Given the description of an element on the screen output the (x, y) to click on. 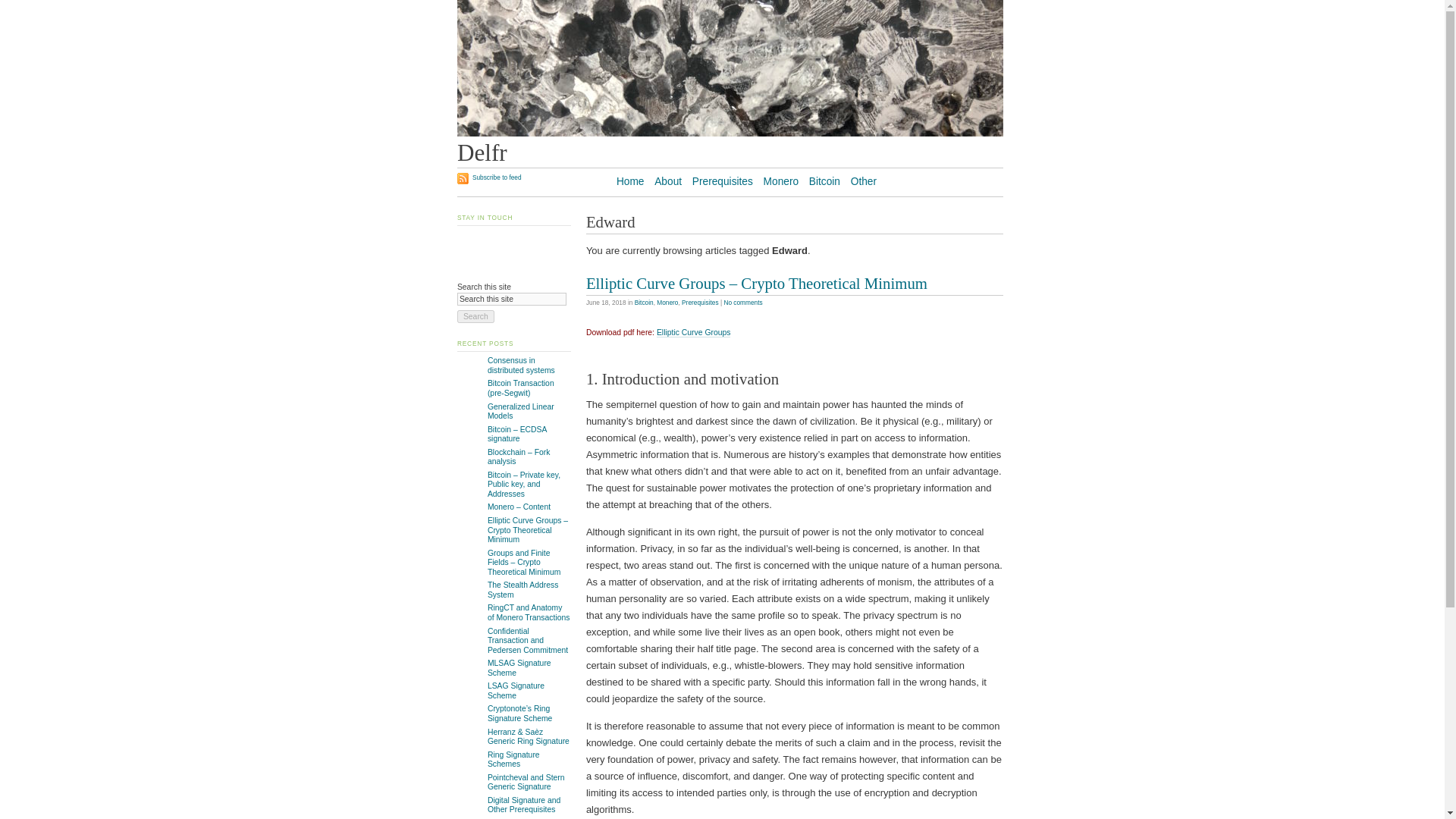
About (667, 181)
Search (476, 316)
Subscribe to feed (489, 178)
Monero (780, 181)
Monero (667, 302)
Bitcoin (824, 181)
Prerequisites (700, 302)
Return to main page (730, 133)
Elliptic Curve Groups (693, 332)
No comments (742, 302)
Prerequisites (722, 181)
Bitcoin (643, 302)
Delfr (481, 152)
Other (863, 181)
Home (630, 181)
